Given the description of an element on the screen output the (x, y) to click on. 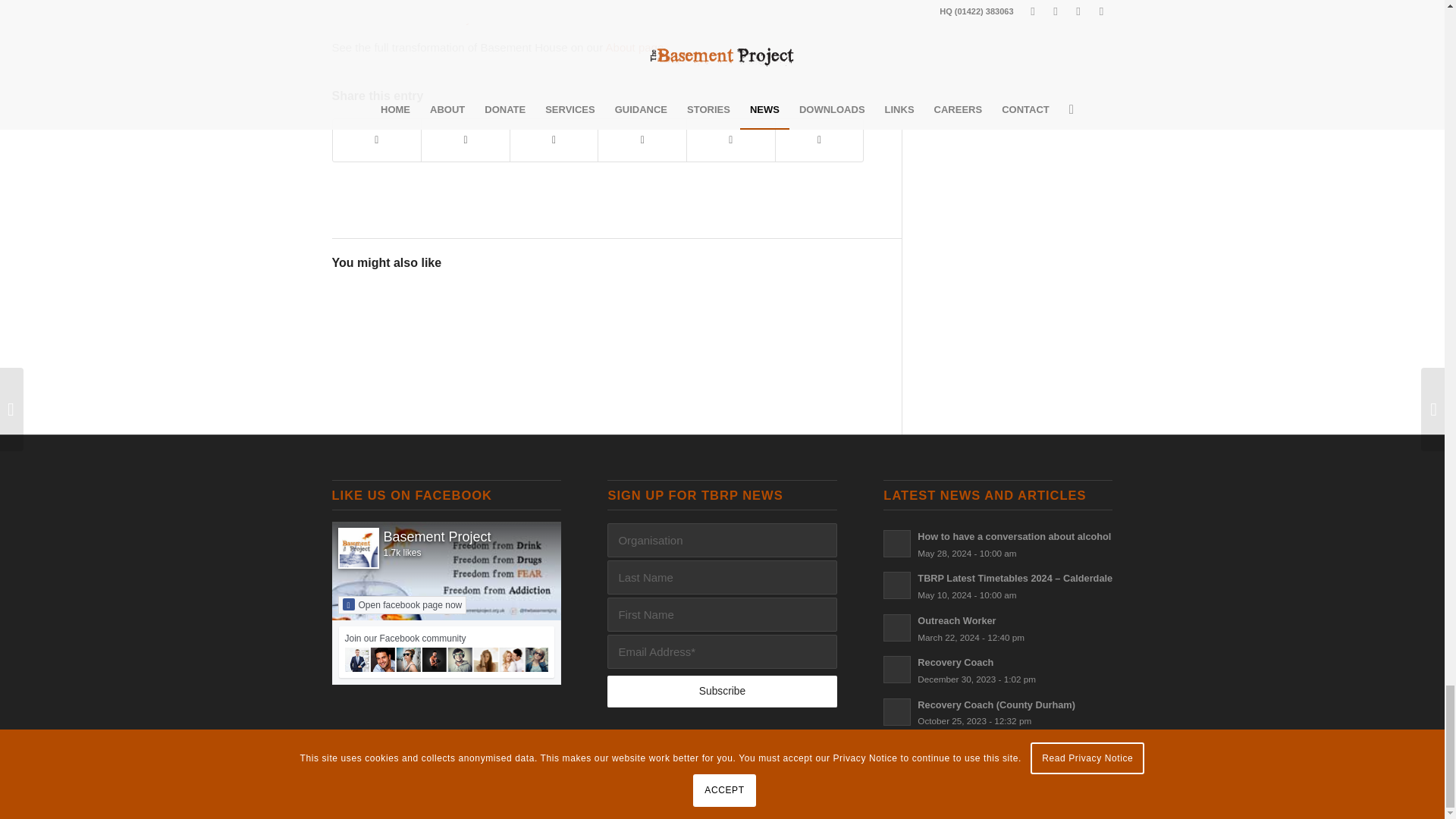
Subscribe (721, 691)
